Given the description of an element on the screen output the (x, y) to click on. 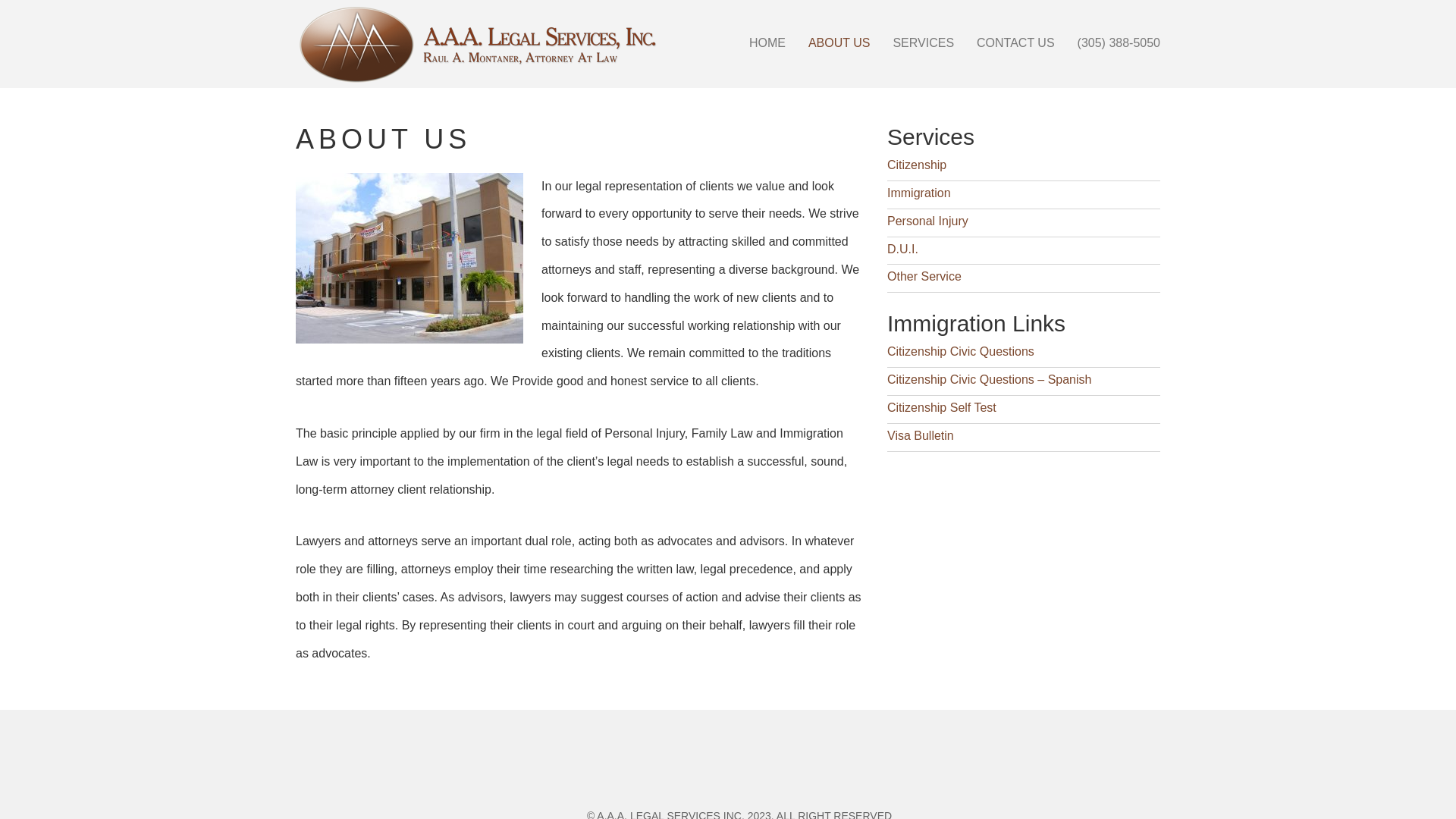
Citizenship Element type: text (916, 164)
Citizenship Self Test Element type: text (941, 407)
CONTACT US Element type: text (1015, 43)
(305) 388-5050 Element type: text (1118, 43)
HOME Element type: text (767, 43)
D.U.I. Element type: text (902, 248)
Other Service Element type: text (924, 275)
ABOUT US Element type: text (839, 43)
Visa Bulletin Element type: text (920, 435)
Personal Injury Element type: text (927, 220)
Citizenship Civic Questions Element type: text (960, 351)
SERVICES Element type: text (923, 43)
Immigration Element type: text (918, 192)
